Given the description of an element on the screen output the (x, y) to click on. 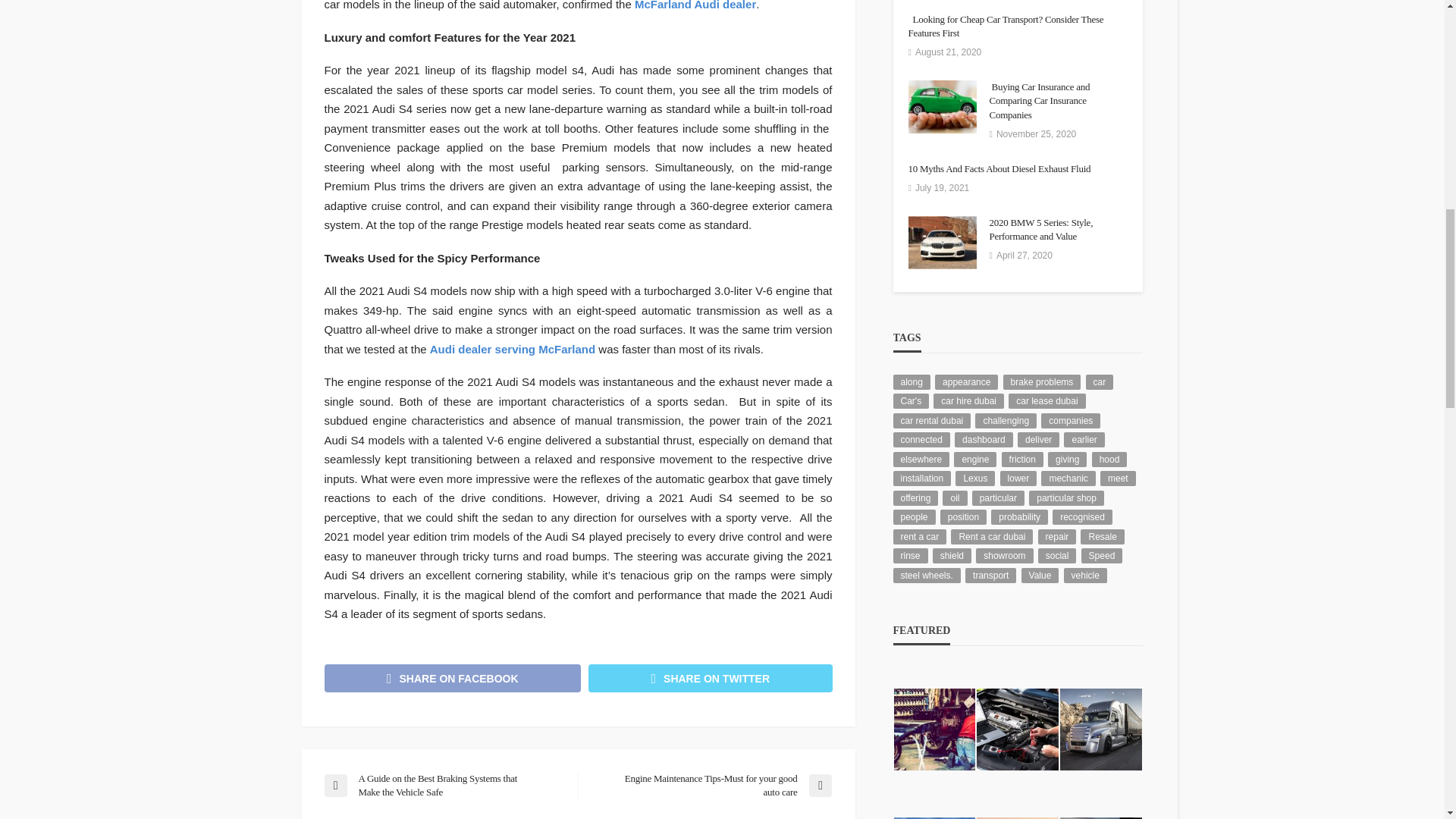
SHARE ON FACEBOOK (452, 678)
SHARE ON TWITTER (709, 678)
Engine Maintenance Tips-Must for your good auto care (711, 785)
Engine Maintenance Tips-Must for your good auto care (711, 785)
Audi dealer serving McFarland (512, 349)
McFarland Audi dealer (694, 5)
